Given the description of an element on the screen output the (x, y) to click on. 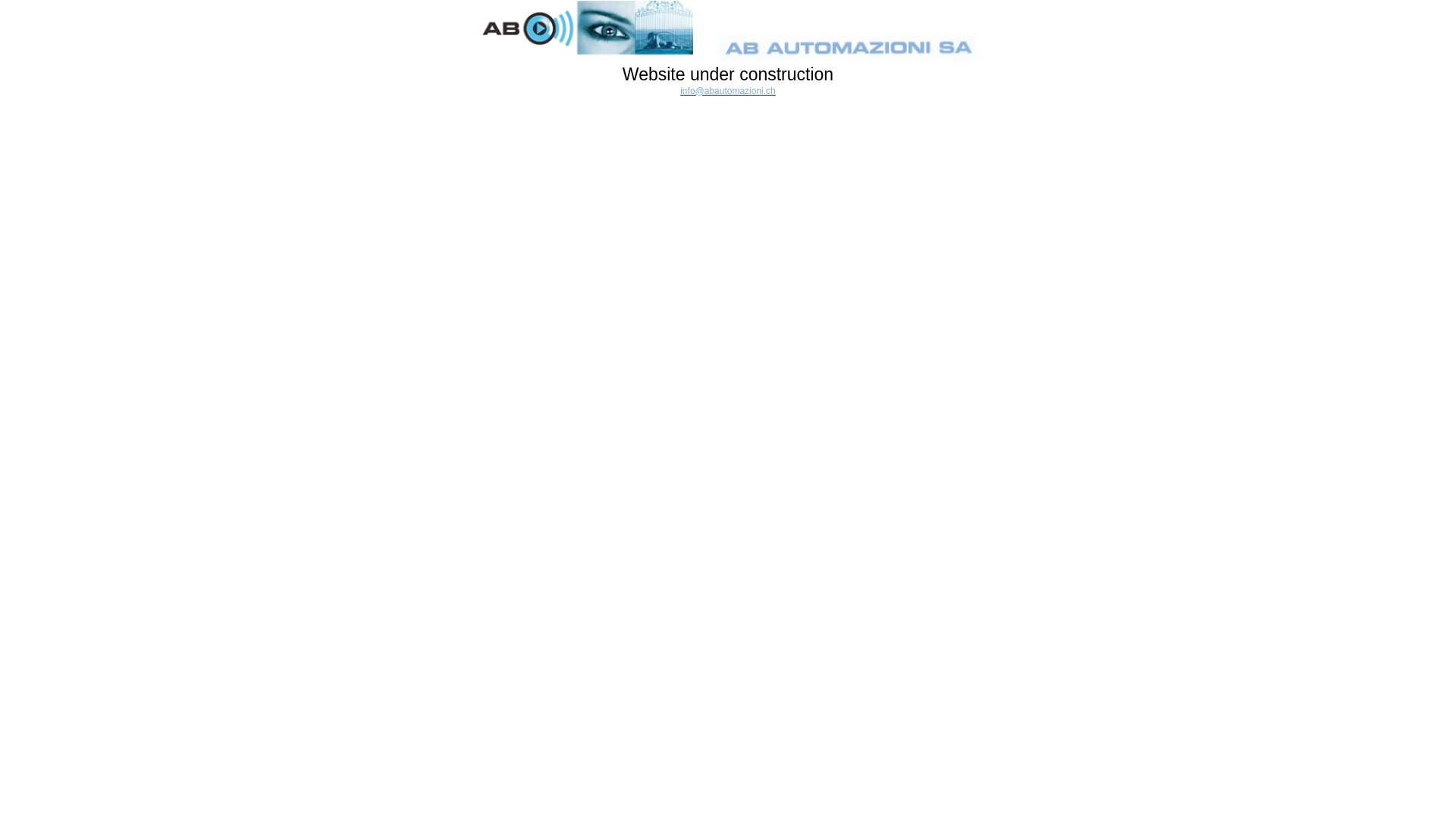
info@abautomazioni.ch Element type: text (727, 90)
